Given the description of an element on the screen output the (x, y) to click on. 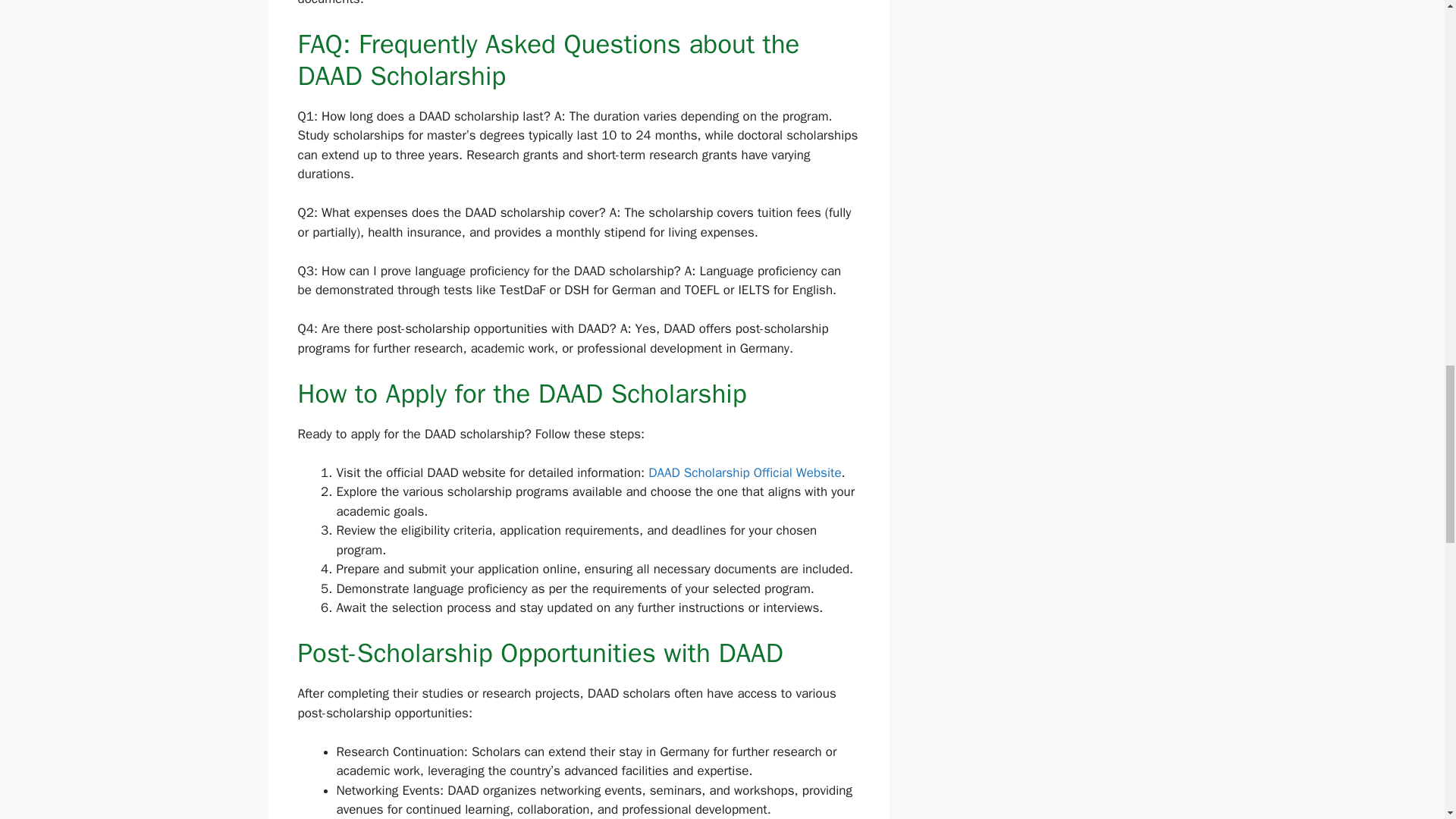
DAAD Scholarship Official Website (744, 472)
